Given the description of an element on the screen output the (x, y) to click on. 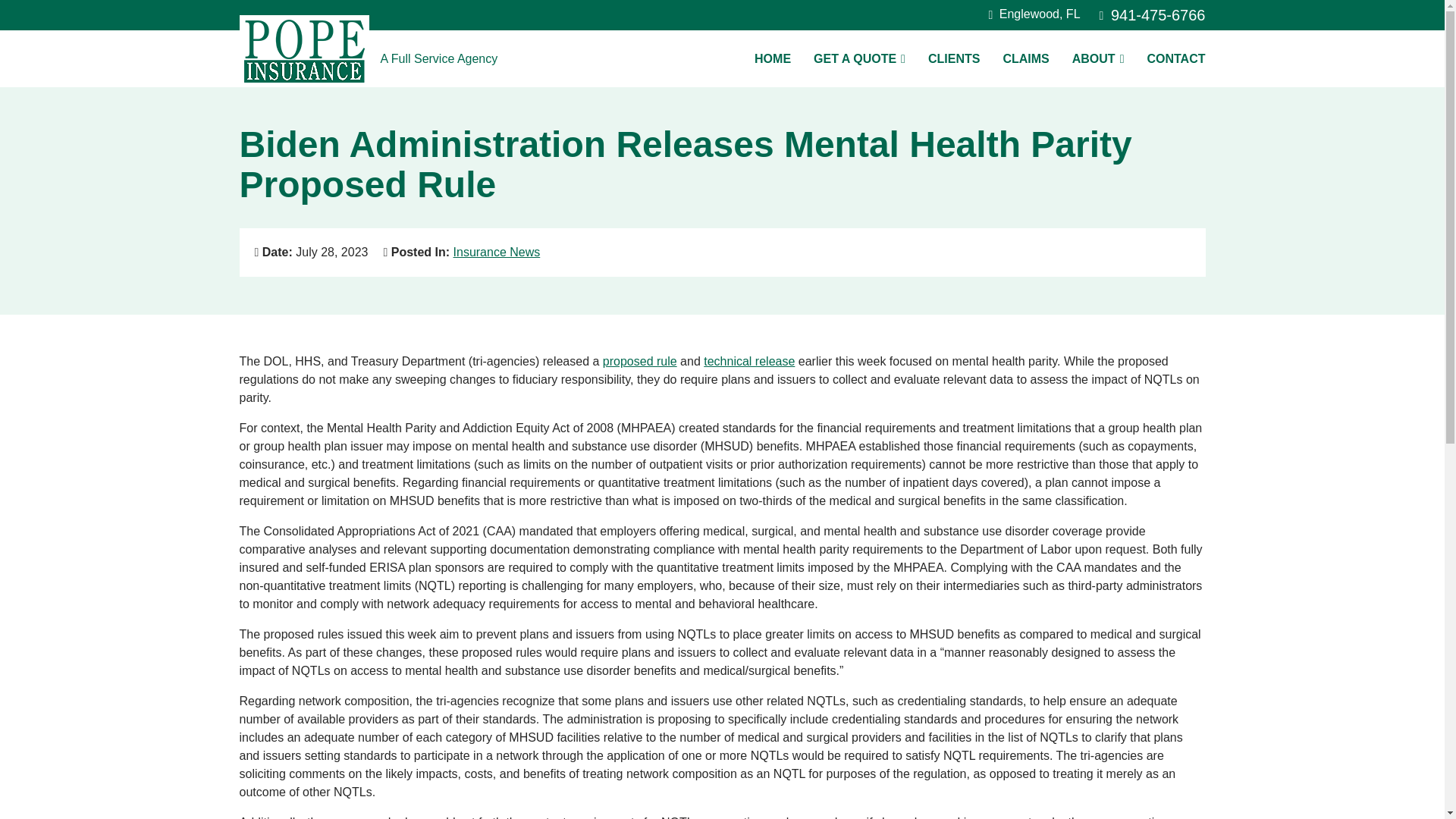
Insurance News (496, 251)
CONTACT (1176, 58)
technical release (748, 360)
ABOUT (1097, 58)
CLIENTS (953, 58)
GET A QUOTE (859, 58)
proposed rule (1152, 14)
Skip to main content (639, 360)
